Given the description of an element on the screen output the (x, y) to click on. 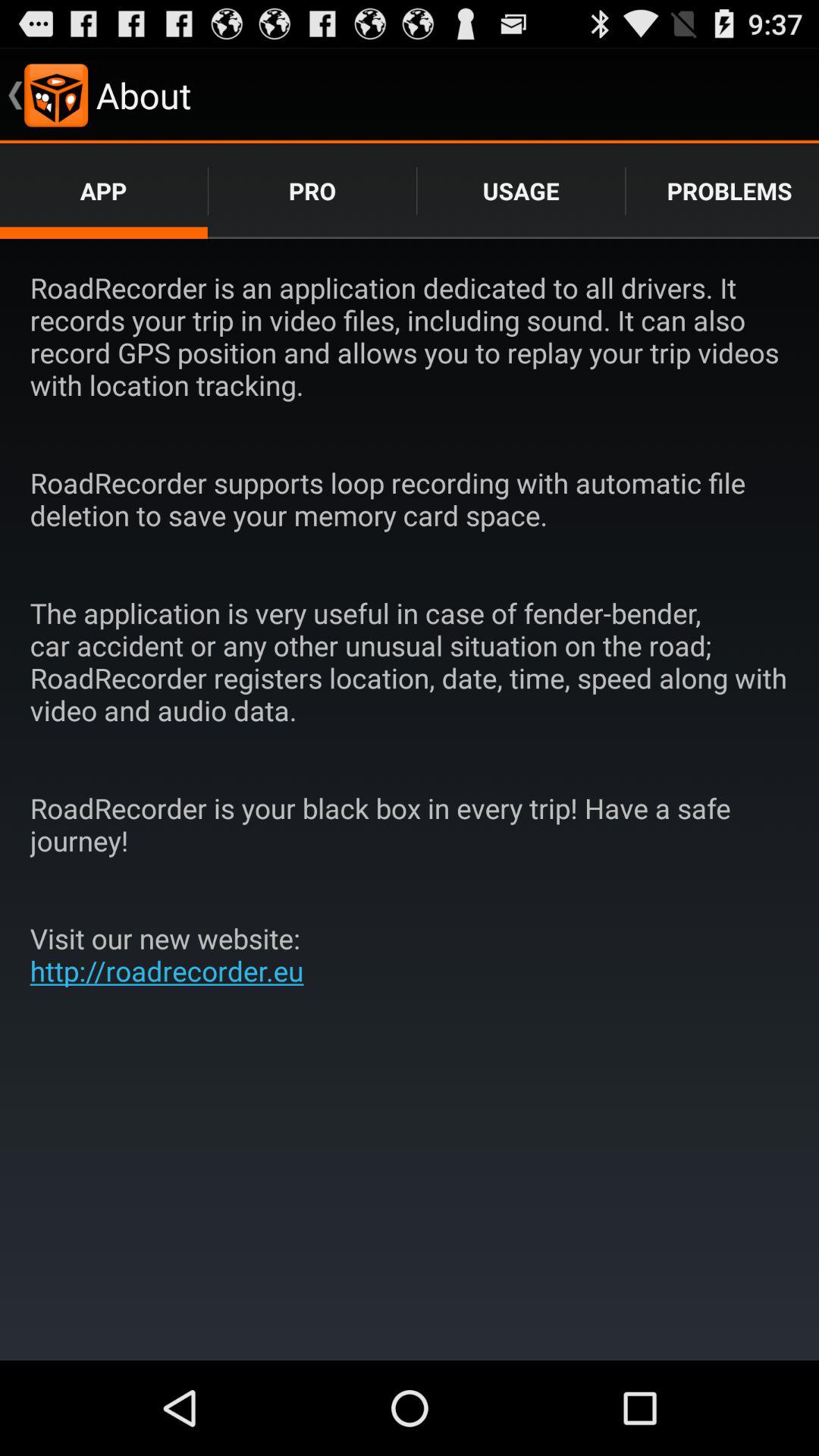
press the item below the roadrecorder is your item (172, 954)
